Given the description of an element on the screen output the (x, y) to click on. 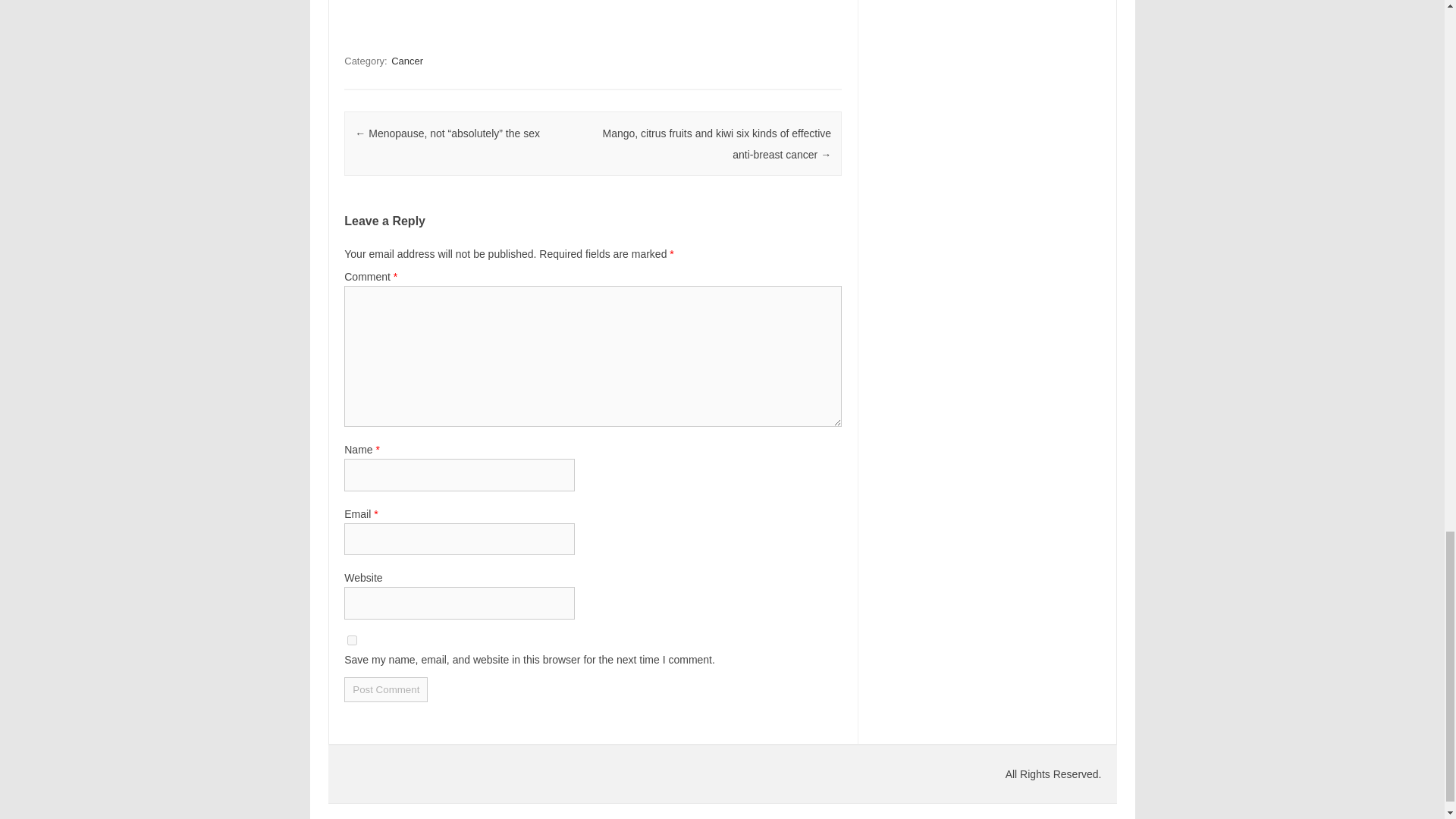
yes (351, 640)
Post Comment (385, 689)
Post Comment (385, 689)
Cancer (407, 60)
